Given the description of an element on the screen output the (x, y) to click on. 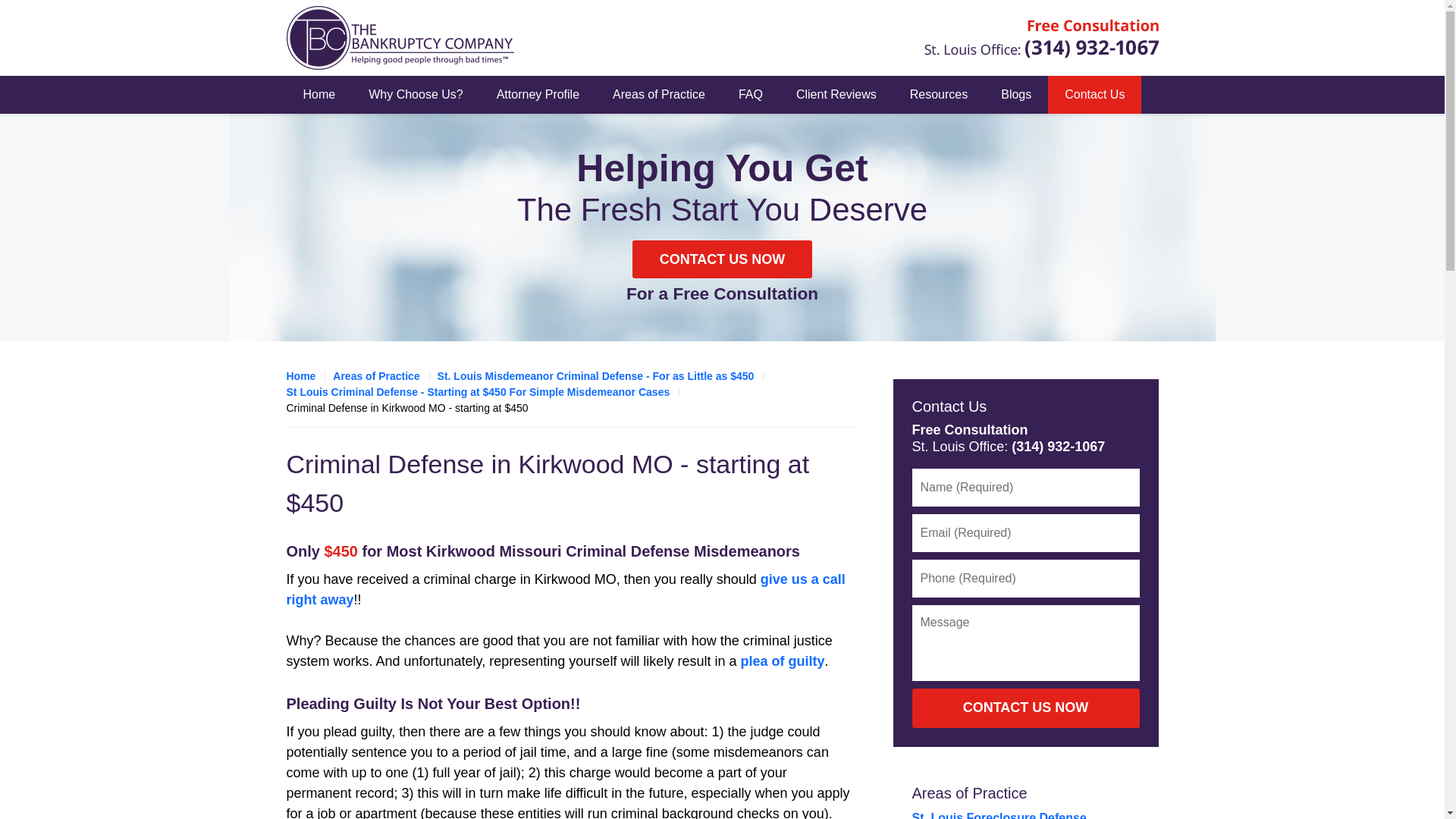
CONTACT US NOW (721, 259)
Home (319, 94)
Client Reviews (835, 94)
Areas of Practice (384, 376)
Why Choose Us? (416, 94)
Back to Home (399, 37)
Home (309, 376)
Areas of Practice (968, 792)
St. Louis County Crime Lawyers The Bankruptcy Company Home (399, 37)
give us a call right away (565, 589)
Blogs (1016, 94)
plea of guilty (781, 661)
CONTACT US NOW (1024, 708)
Attorney Profile (537, 94)
